Given the description of an element on the screen output the (x, y) to click on. 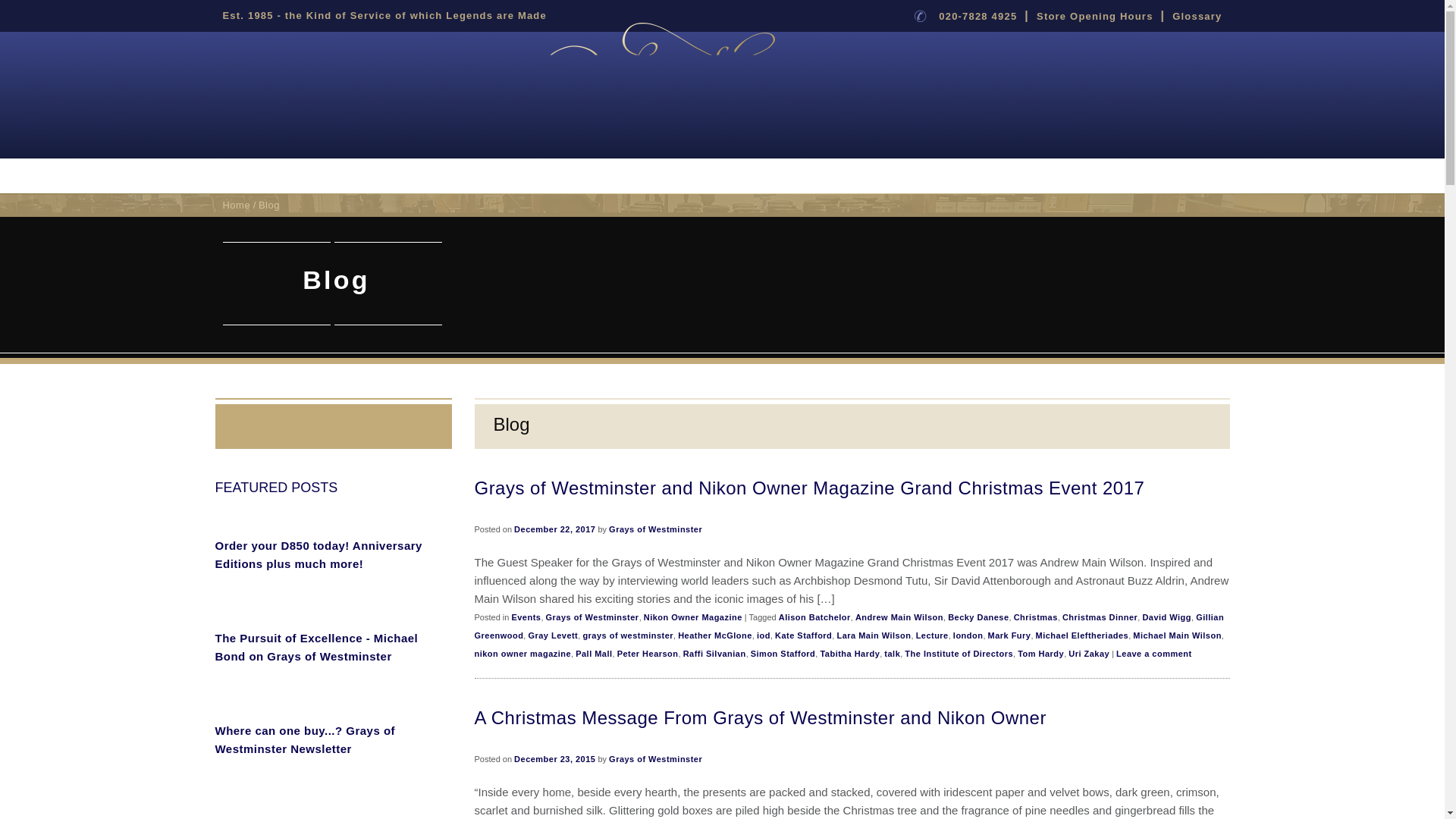
020-7828 4925 (977, 16)
Glossary (1196, 16)
View all posts by Grays of Westminster (654, 758)
Store Opening Hours (1094, 16)
View all posts by Grays of Westminster (654, 528)
11:01 pm (554, 758)
5:05 pm (554, 528)
